Given the description of an element on the screen output the (x, y) to click on. 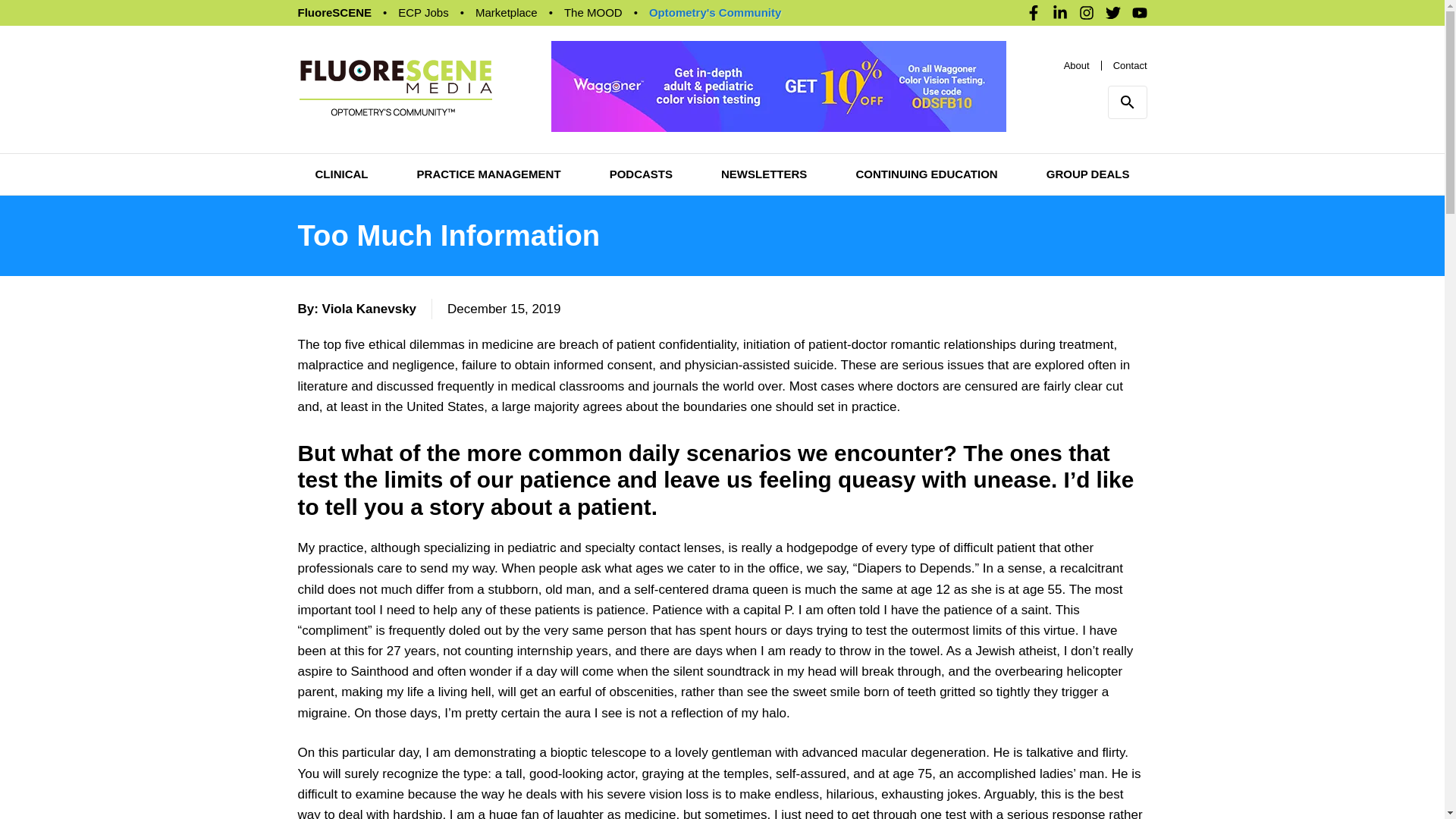
NEWSLETTERS (763, 173)
Contact (1130, 64)
Marketplace (506, 11)
PRACTICE MANAGEMENT (488, 173)
CONTINUING EDUCATION (926, 173)
The MOOD (593, 11)
Optometry's Community (714, 11)
About (1076, 64)
ECP Jobs (422, 11)
GROUP DEALS (1088, 173)
PODCASTS (641, 173)
CLINICAL (341, 173)
